Given the description of an element on the screen output the (x, y) to click on. 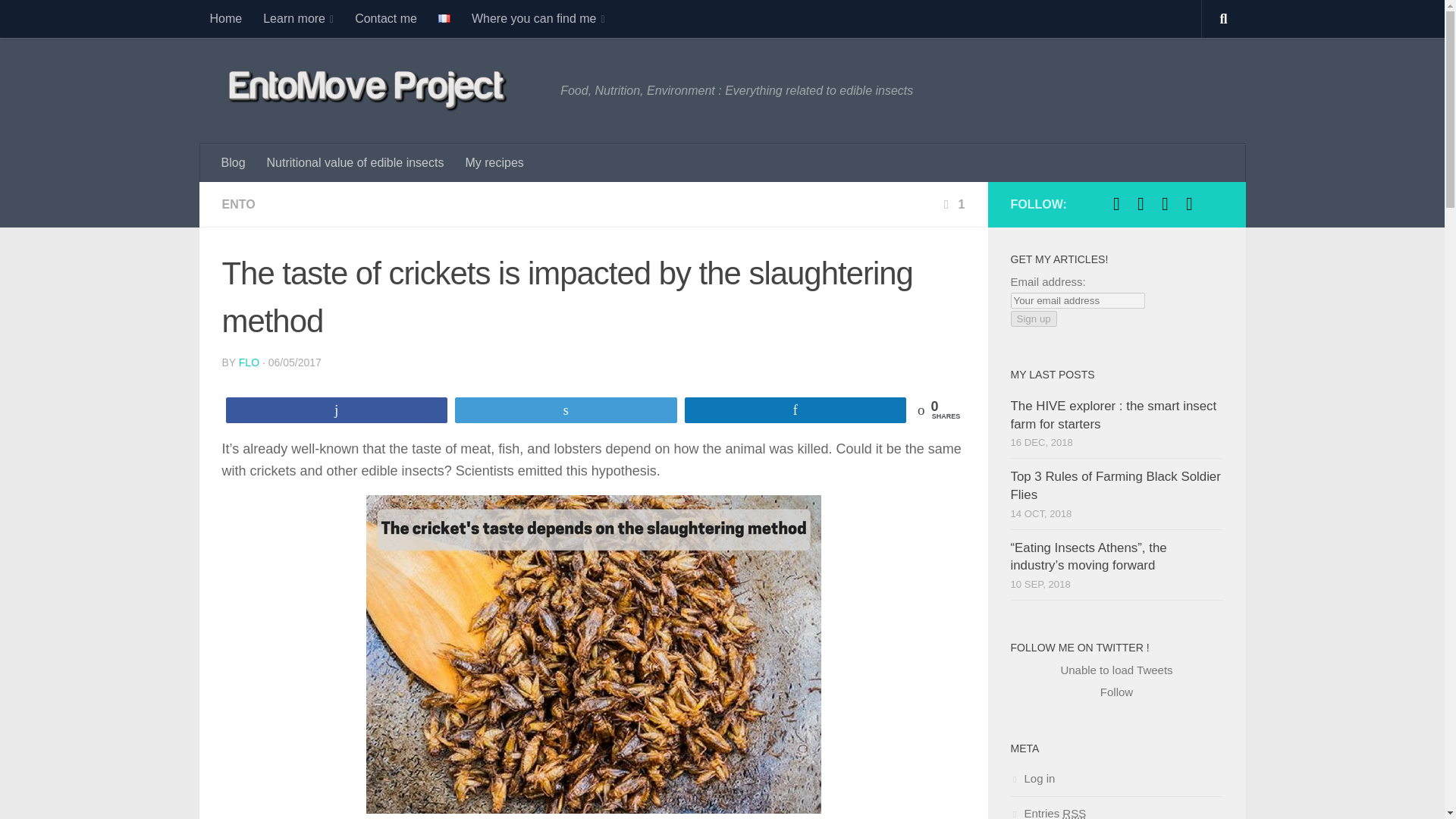
Sign up (1033, 318)
Blog (233, 162)
Nutritional value of edible insects (355, 162)
Where you can find me (538, 18)
1 (952, 204)
Home (224, 18)
Contact me (385, 18)
FLO (248, 362)
Posts by Flo (248, 362)
My recipes (494, 162)
Learn more (297, 18)
ENTO (237, 204)
